Given the description of an element on the screen output the (x, y) to click on. 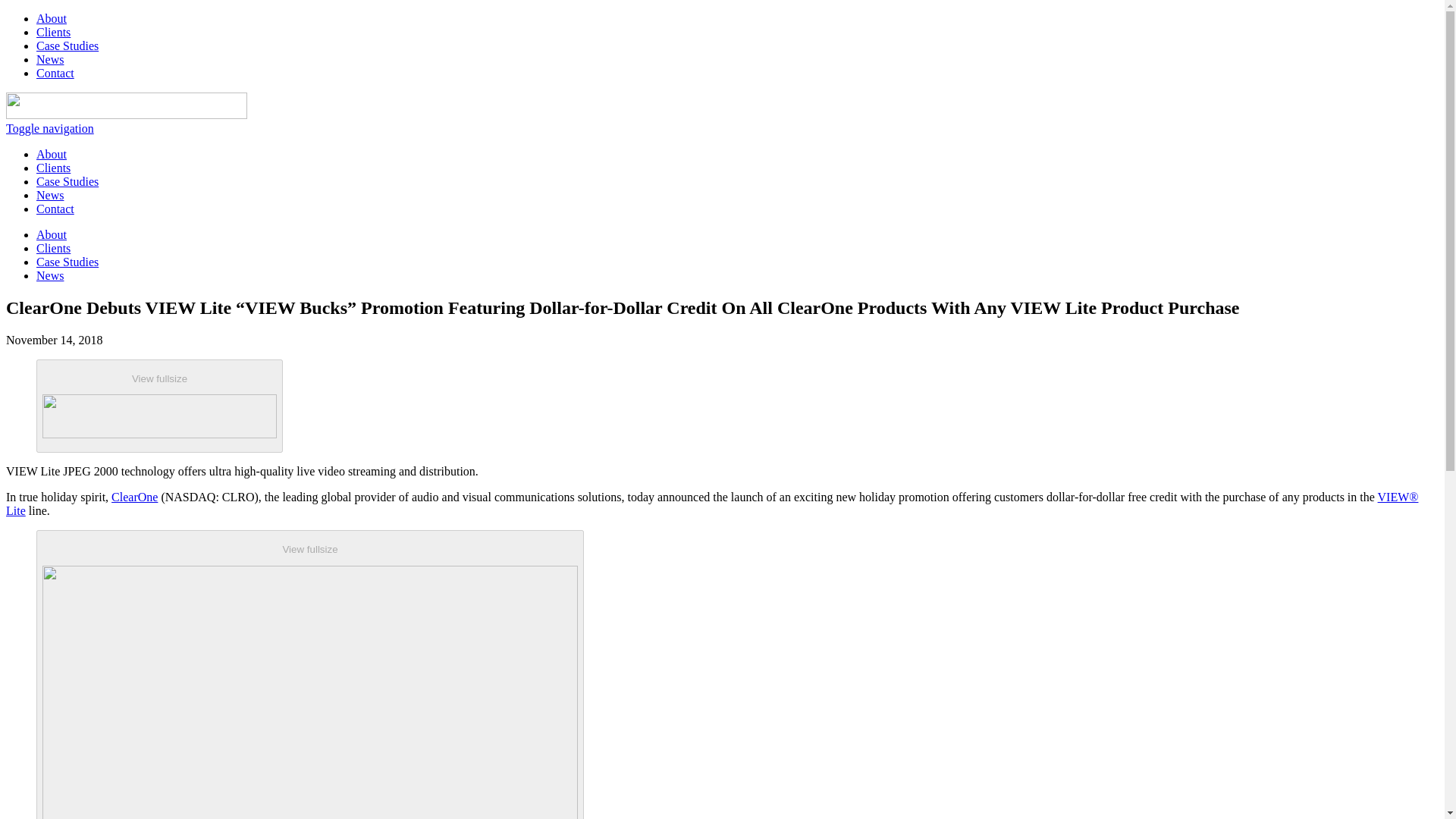
View fullsize (159, 406)
About (51, 18)
Contact (55, 208)
News (50, 59)
About (51, 154)
Case Studies (67, 181)
Clients (52, 247)
Contact (55, 72)
ClearOne (134, 496)
News (50, 195)
Case Studies (67, 45)
Toggle navigation (49, 128)
Clients (52, 167)
Clients (52, 31)
